Given the description of an element on the screen output the (x, y) to click on. 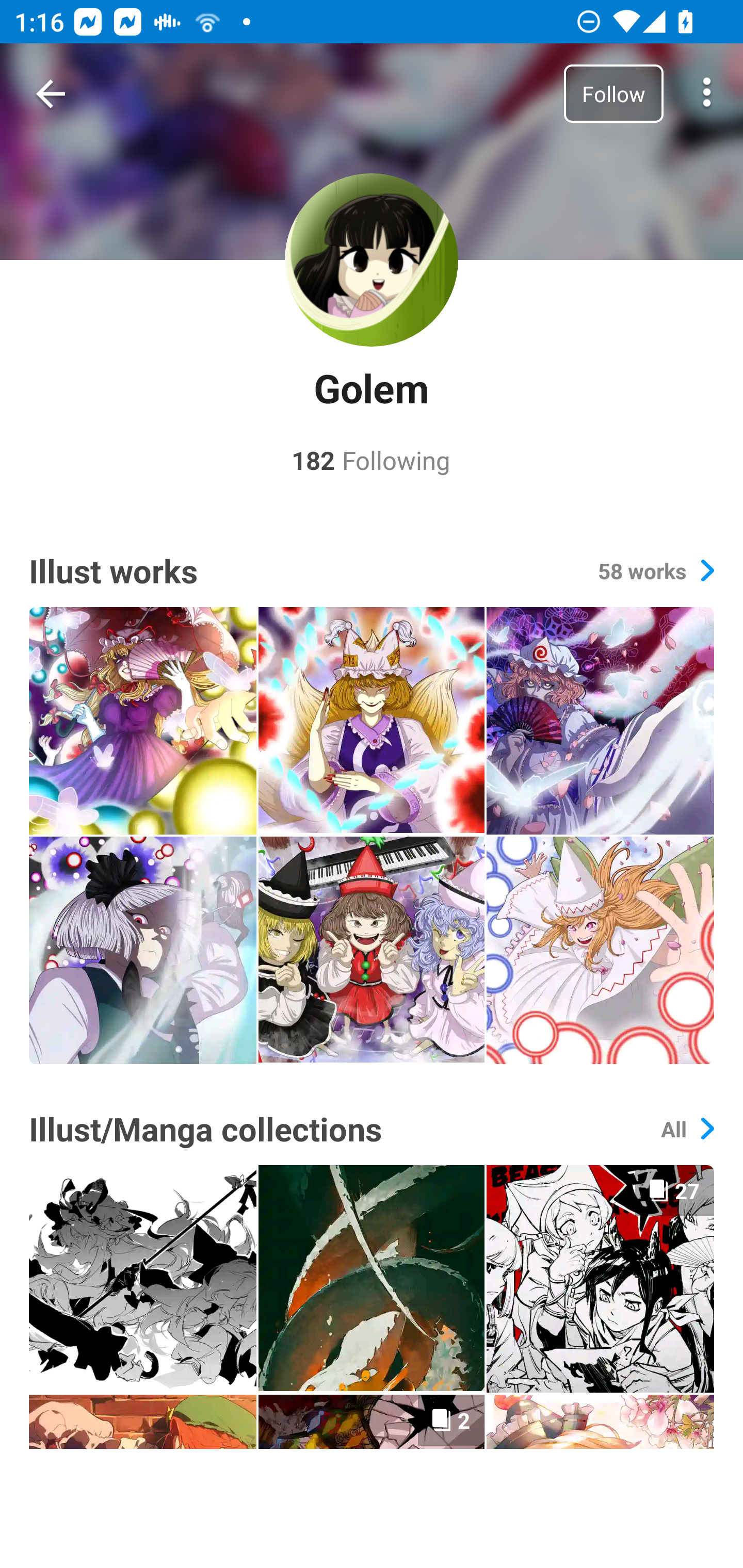
Navigate up (50, 93)
More options (706, 93)
Follow (613, 93)
182 Following (371, 459)
58 works (656, 570)
All (687, 1128)
27 (600, 1278)
